Given the description of an element on the screen output the (x, y) to click on. 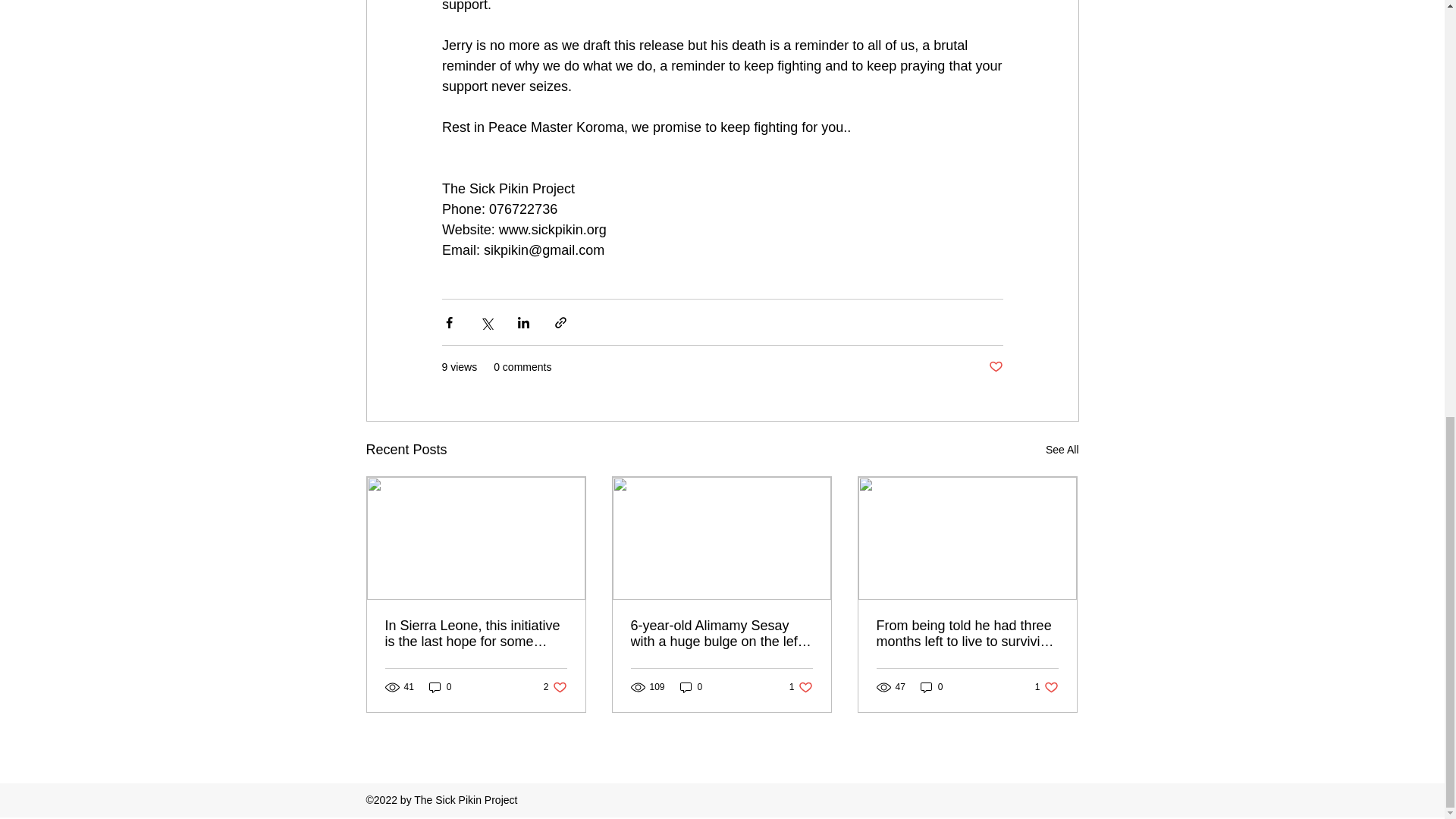
0 (931, 687)
0 (1046, 687)
See All (440, 687)
Post not marked as liked (800, 687)
0 (555, 687)
